Given the description of an element on the screen output the (x, y) to click on. 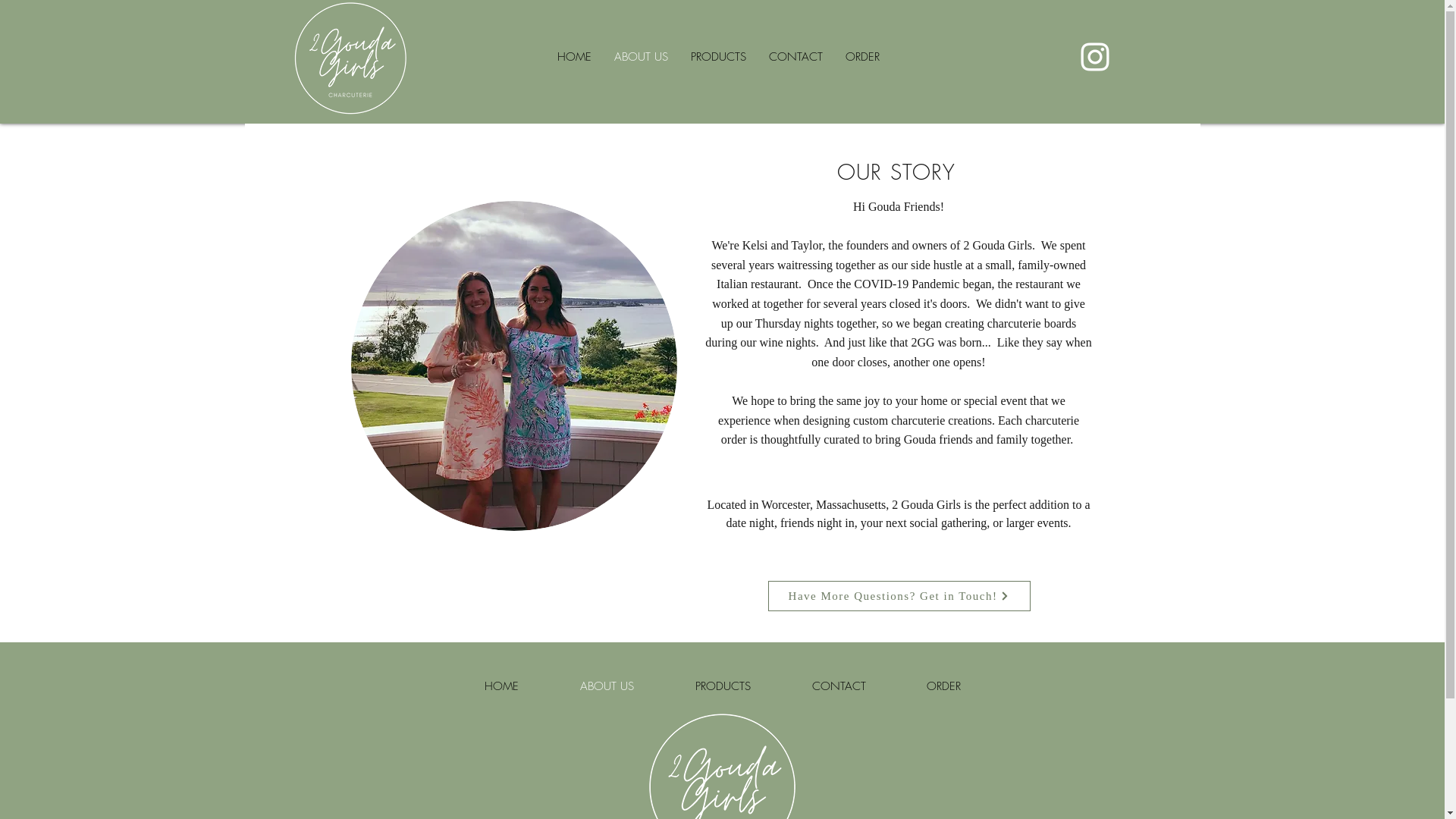
HOME Element type: text (501, 686)
CONTACT Element type: text (838, 686)
ABOUT US Element type: text (606, 686)
HOME Element type: text (574, 56)
PRODUCTS Element type: text (718, 56)
PRODUCTS Element type: text (722, 686)
Have More Questions? Get in Touch! Element type: text (898, 595)
ORDER Element type: text (862, 56)
ORDER Element type: text (943, 686)
CONTACT Element type: text (794, 56)
ABOUT US Element type: text (640, 56)
